Given the description of an element on the screen output the (x, y) to click on. 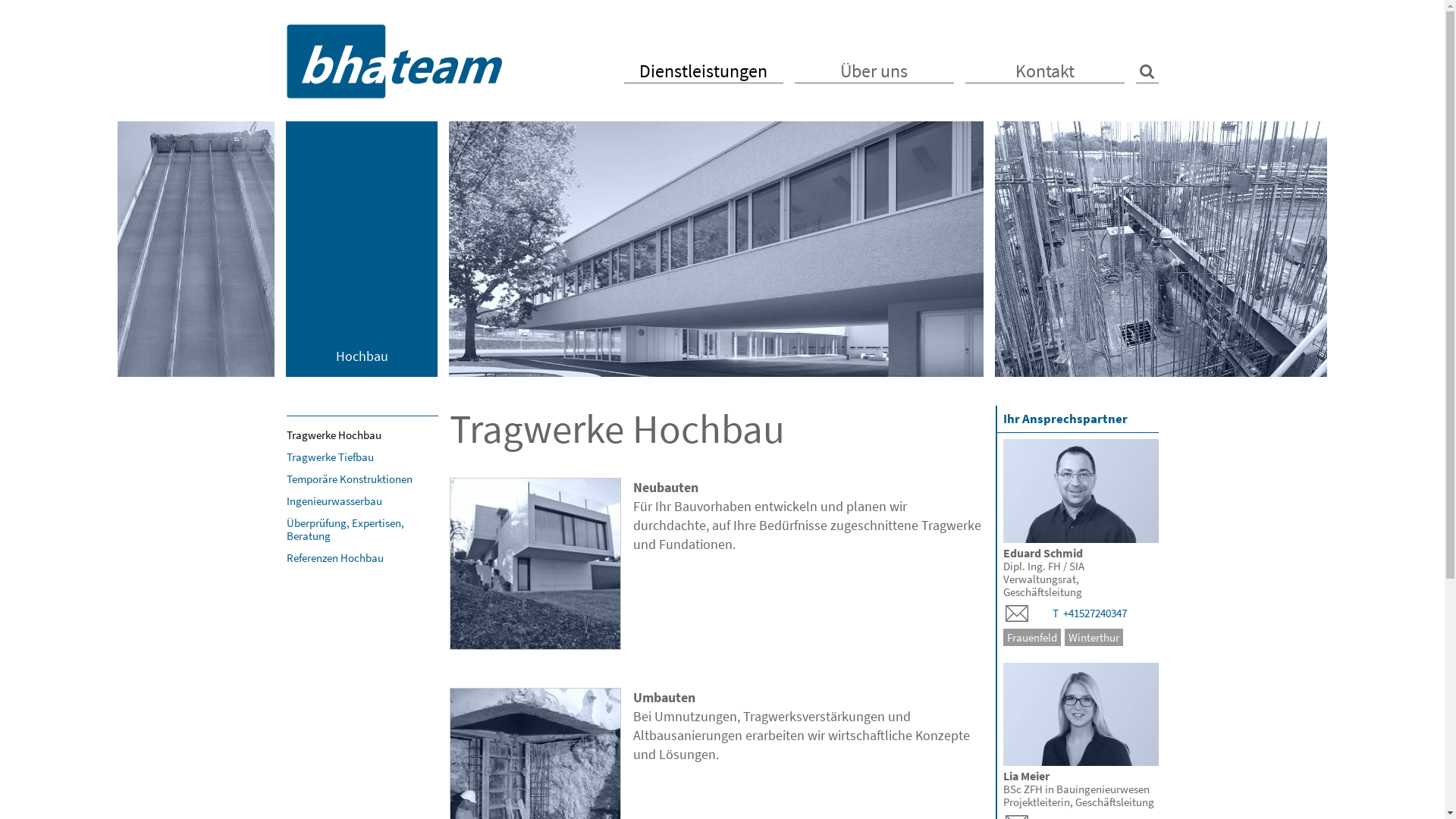
Ingenieurwasserbau Element type: text (362, 500)
T  +41527240347 Element type: text (1089, 612)
Tragwerke Tiefbau Element type: text (362, 456)
Kontakt Element type: text (1043, 70)
Referenzen Hochbau Element type: text (362, 557)
Dienstleistungen Element type: text (702, 70)
Tragwerke Hochbau Element type: text (362, 434)
